Given the description of an element on the screen output the (x, y) to click on. 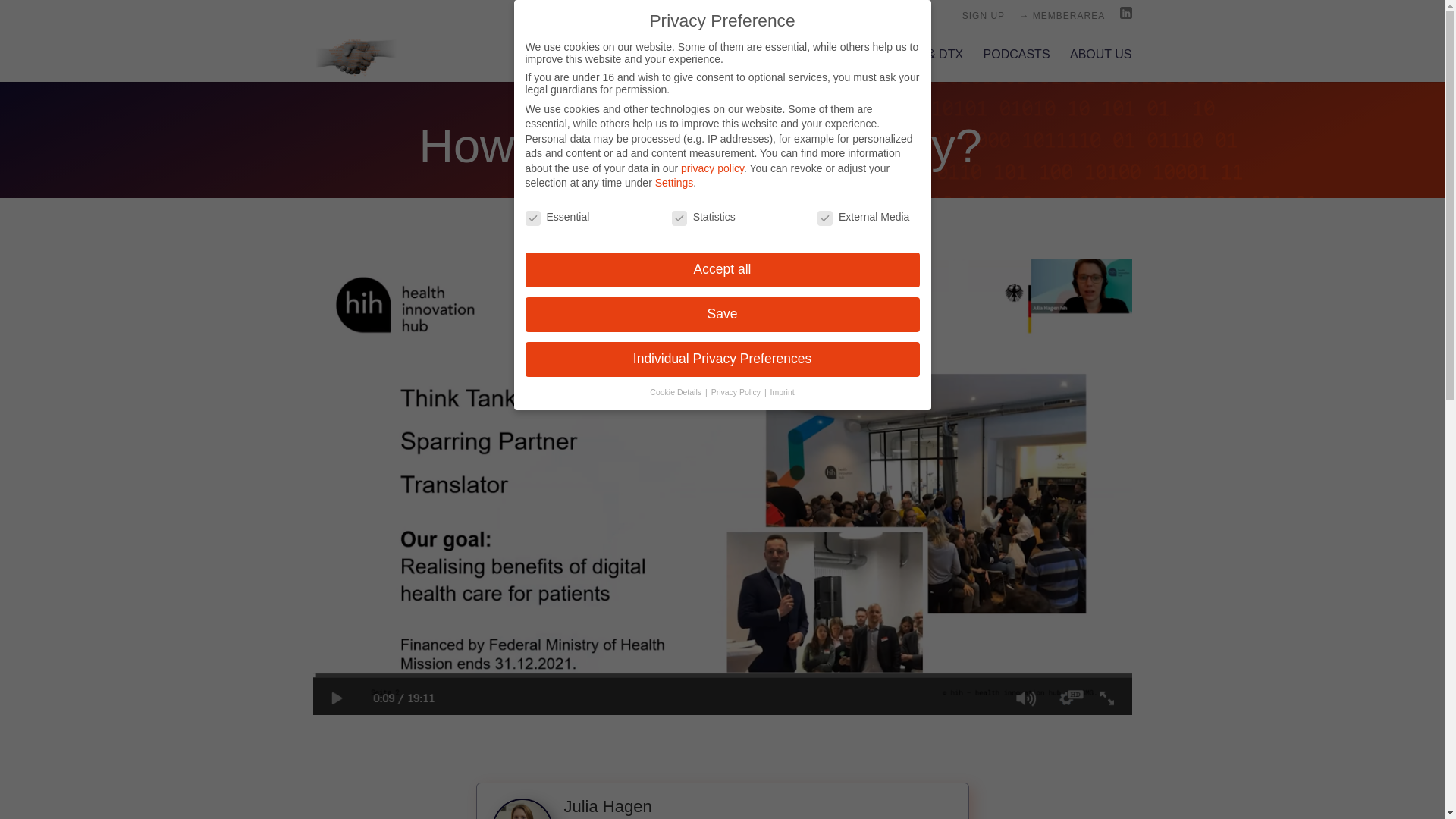
PODCASTS (1016, 65)
ALL NEWS (735, 65)
MEETINGS (832, 65)
ABOUT US (1101, 65)
SIGN UP (983, 19)
